Given the description of an element on the screen output the (x, y) to click on. 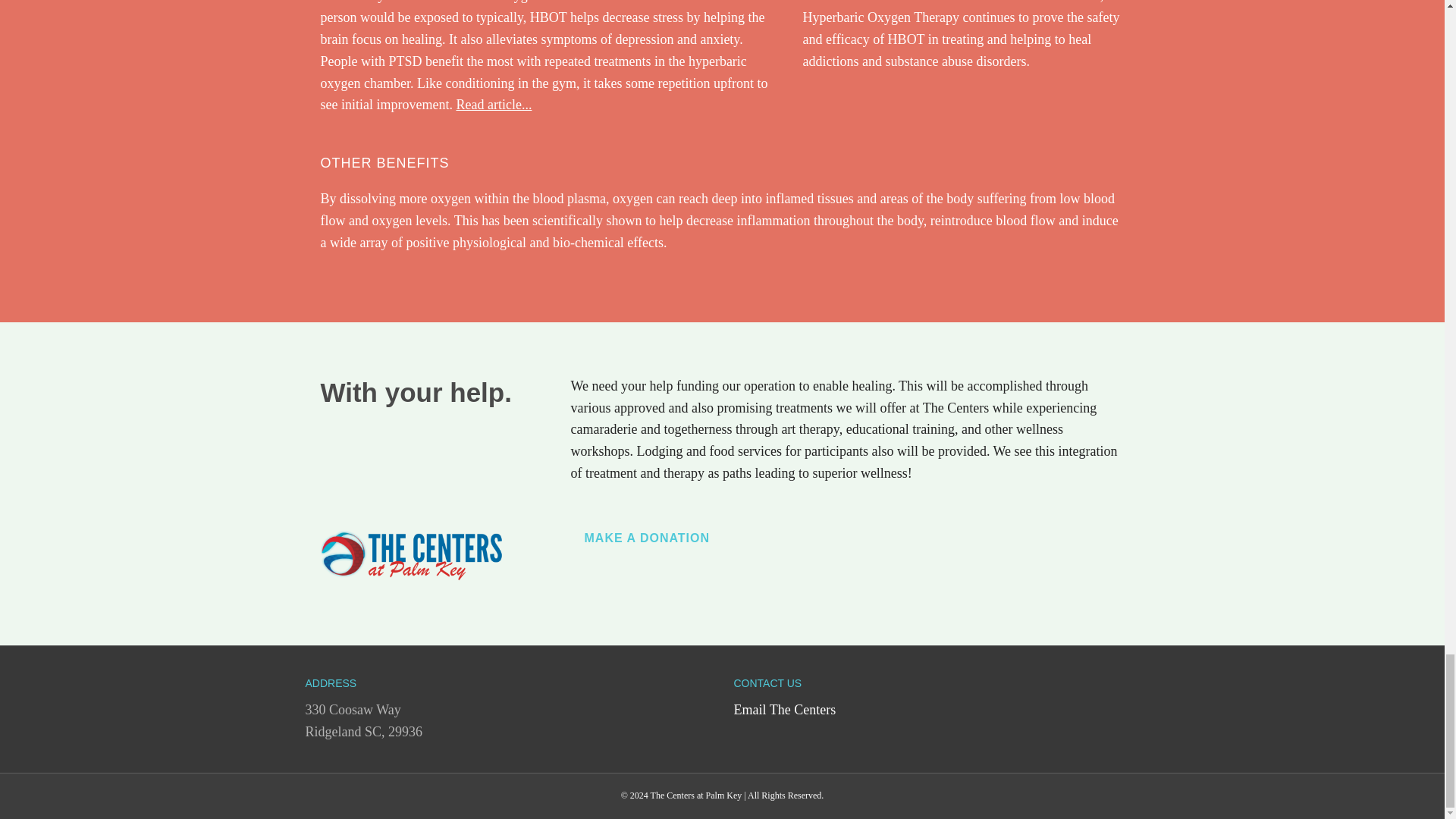
Read article... (493, 104)
logo (411, 552)
Email The Centers (784, 709)
